Given the description of an element on the screen output the (x, y) to click on. 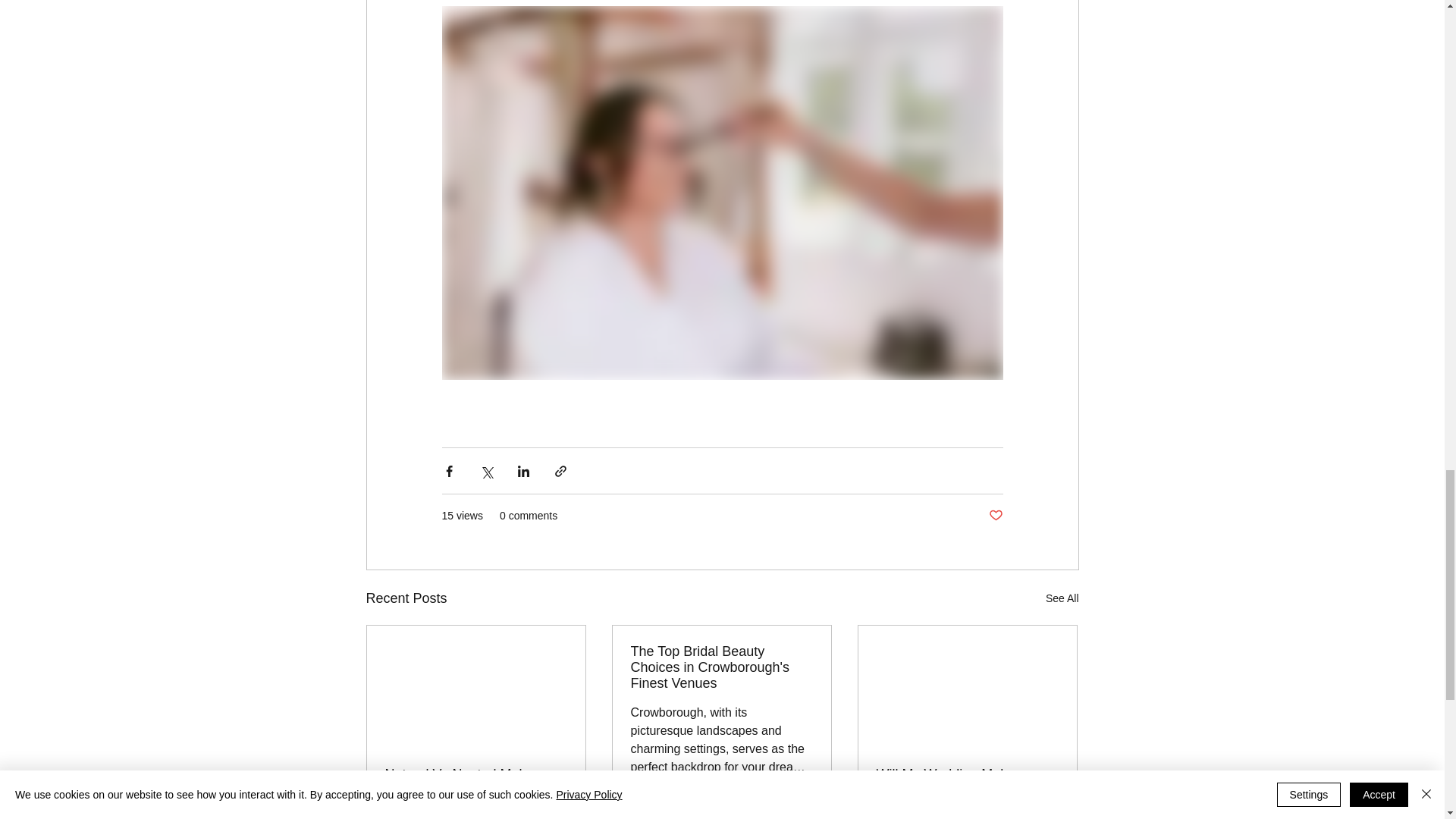
See All (1061, 598)
Natural Vs Neutral Makeup (476, 774)
The Top Bridal Beauty Choices in Crowborough's Finest Venues (721, 667)
Will My Wedding Makeup Last all Day? (967, 782)
Post not marked as liked (995, 515)
